Given the description of an element on the screen output the (x, y) to click on. 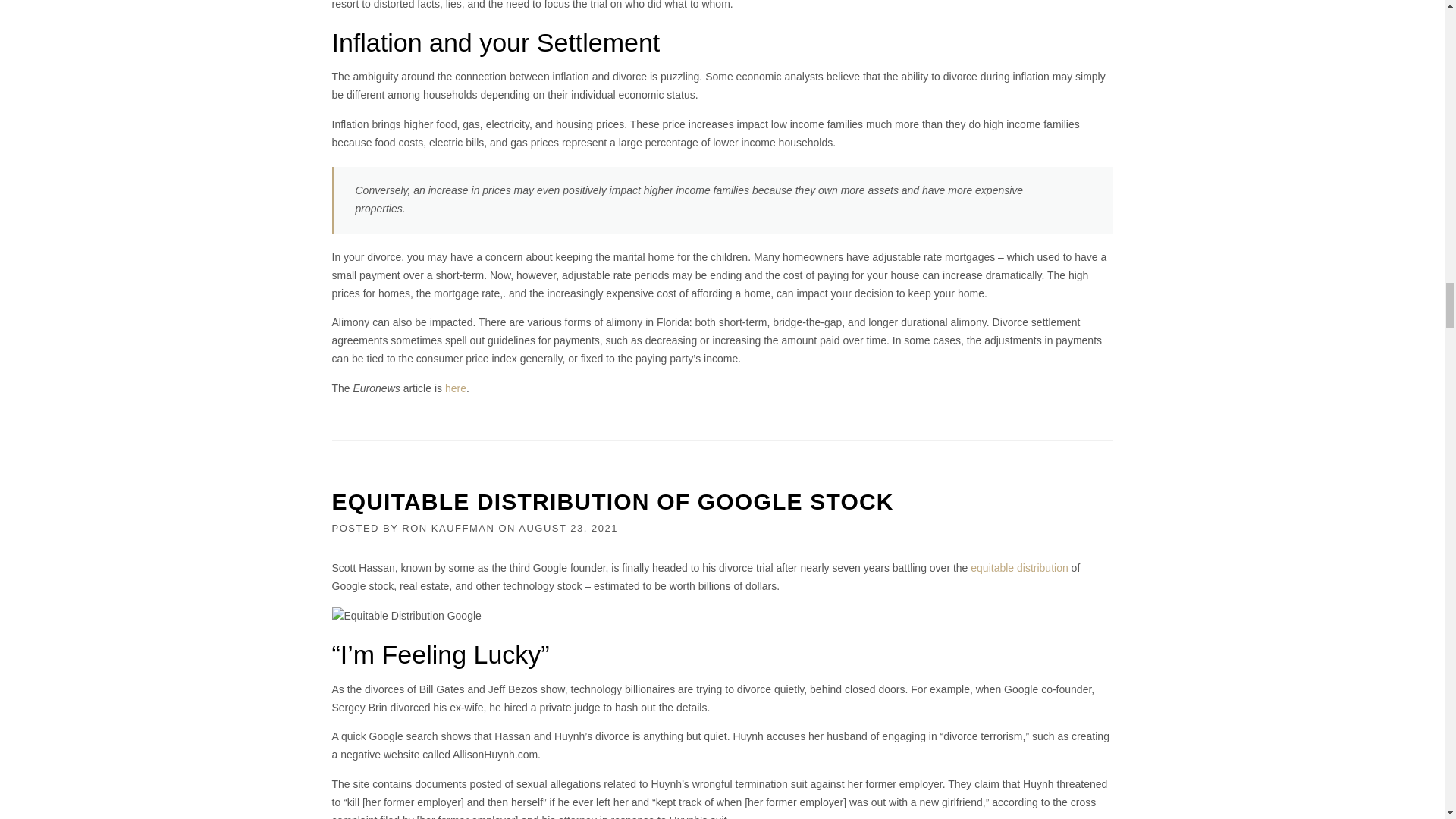
Equitable Distribution Google (406, 616)
